Given the description of an element on the screen output the (x, y) to click on. 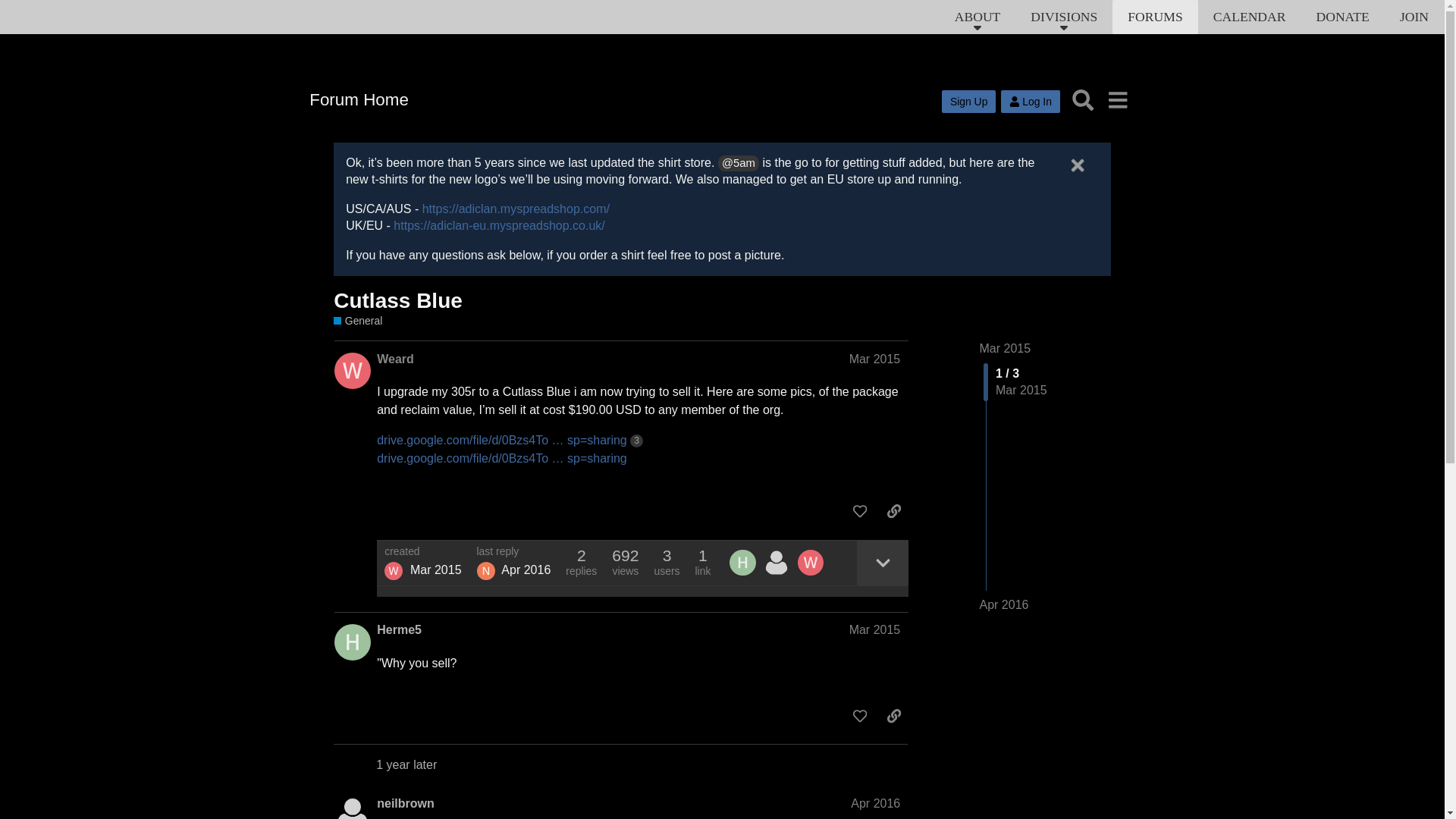
Sign Up (968, 101)
copy a link to this post to clipboard (893, 510)
Post date (874, 358)
Apr 2016 (1004, 605)
3 clicks (636, 440)
neilbrown (486, 570)
Jump to the first post (1004, 348)
Log In (1030, 101)
ATLAS DEFENSE INDUSTRIES (155, 39)
General (357, 320)
Mar 2015 (874, 358)
Weard (393, 570)
Search (1082, 99)
Weard (395, 359)
DIVISIONS (1063, 17)
